Given the description of an element on the screen output the (x, y) to click on. 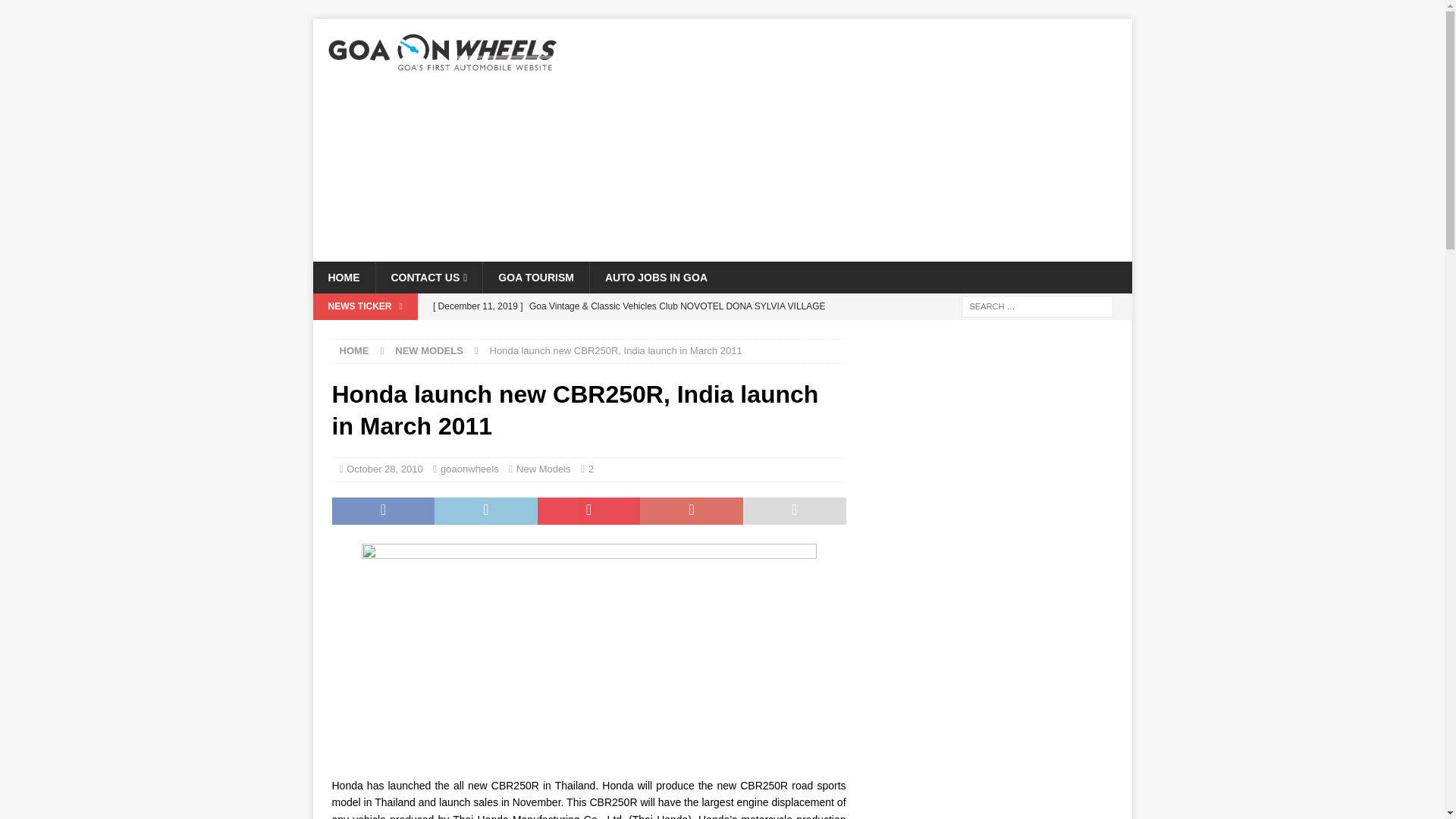
AUTO JOBS IN GOA (655, 277)
Advertisement (854, 140)
2 (591, 469)
2 (591, 469)
HOME (343, 277)
New Models (543, 469)
Search (56, 11)
CONTACT US (427, 277)
goaonwheels (470, 469)
NEW MODELS (428, 350)
October 28, 2010 (384, 469)
GOA TOURISM (535, 277)
HOME (354, 350)
